Given the description of an element on the screen output the (x, y) to click on. 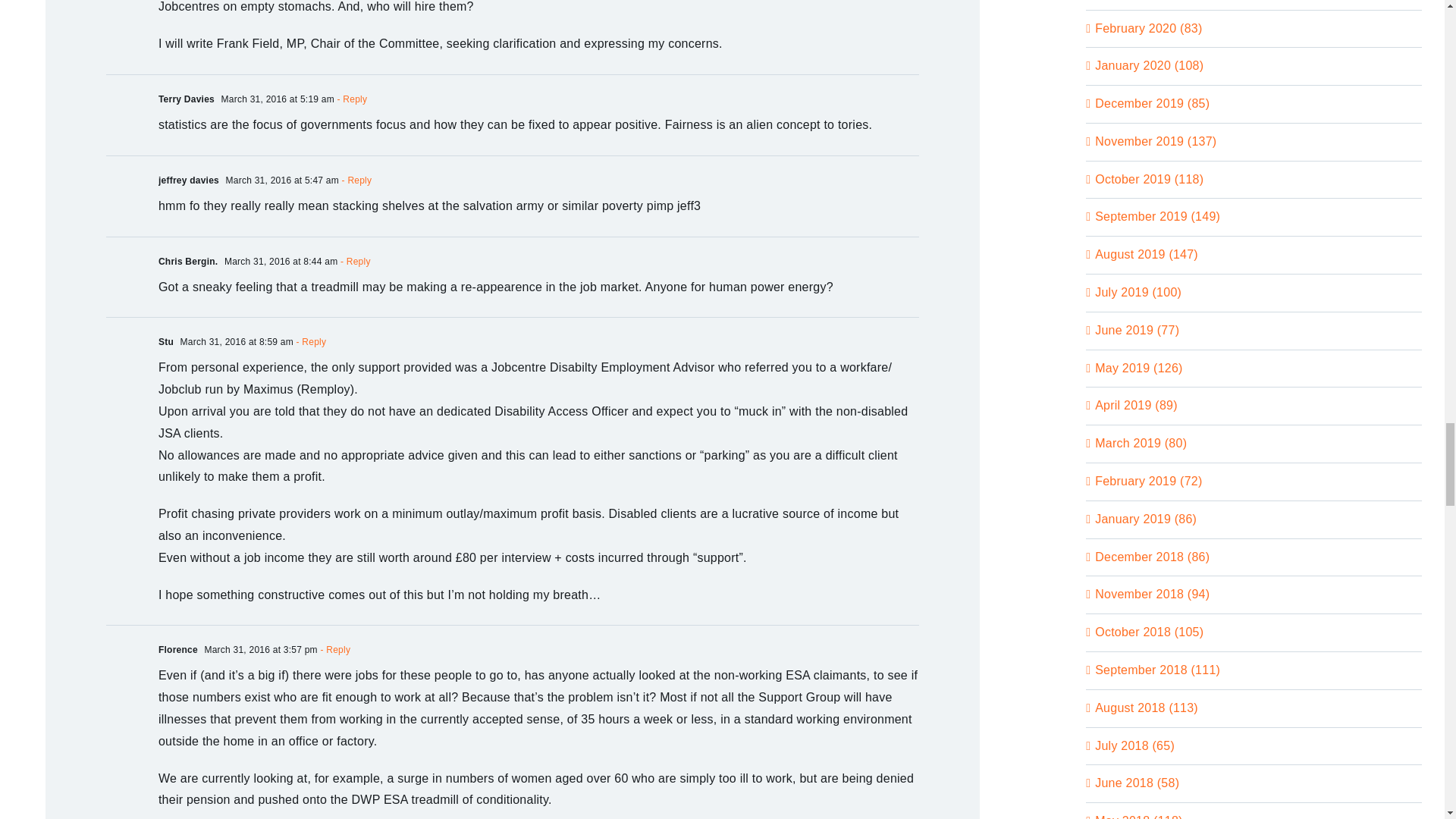
- Reply (333, 649)
- Reply (355, 180)
- Reply (350, 99)
- Reply (353, 261)
- Reply (310, 341)
